Given the description of an element on the screen output the (x, y) to click on. 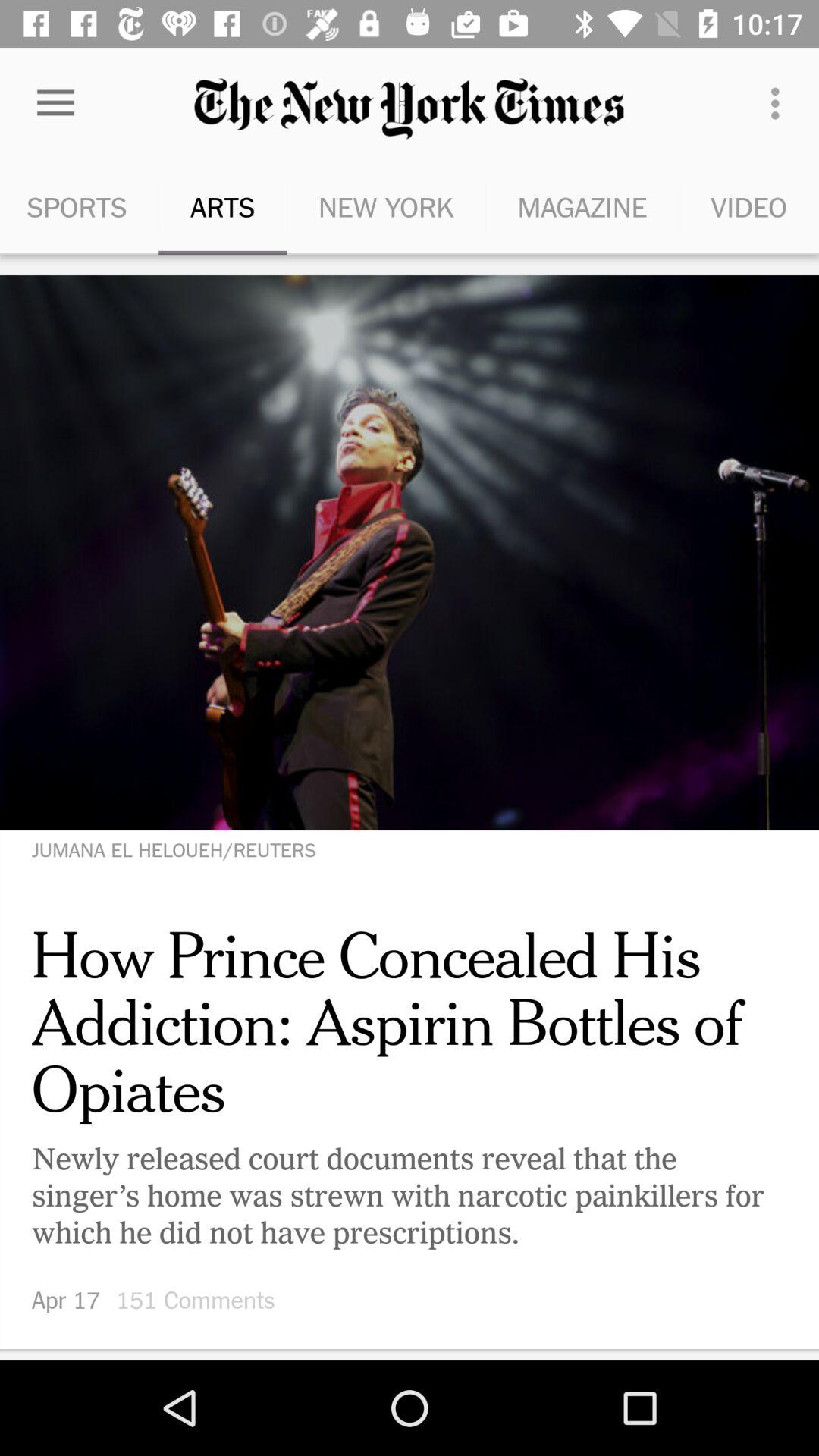
select video icon (749, 206)
